Given the description of an element on the screen output the (x, y) to click on. 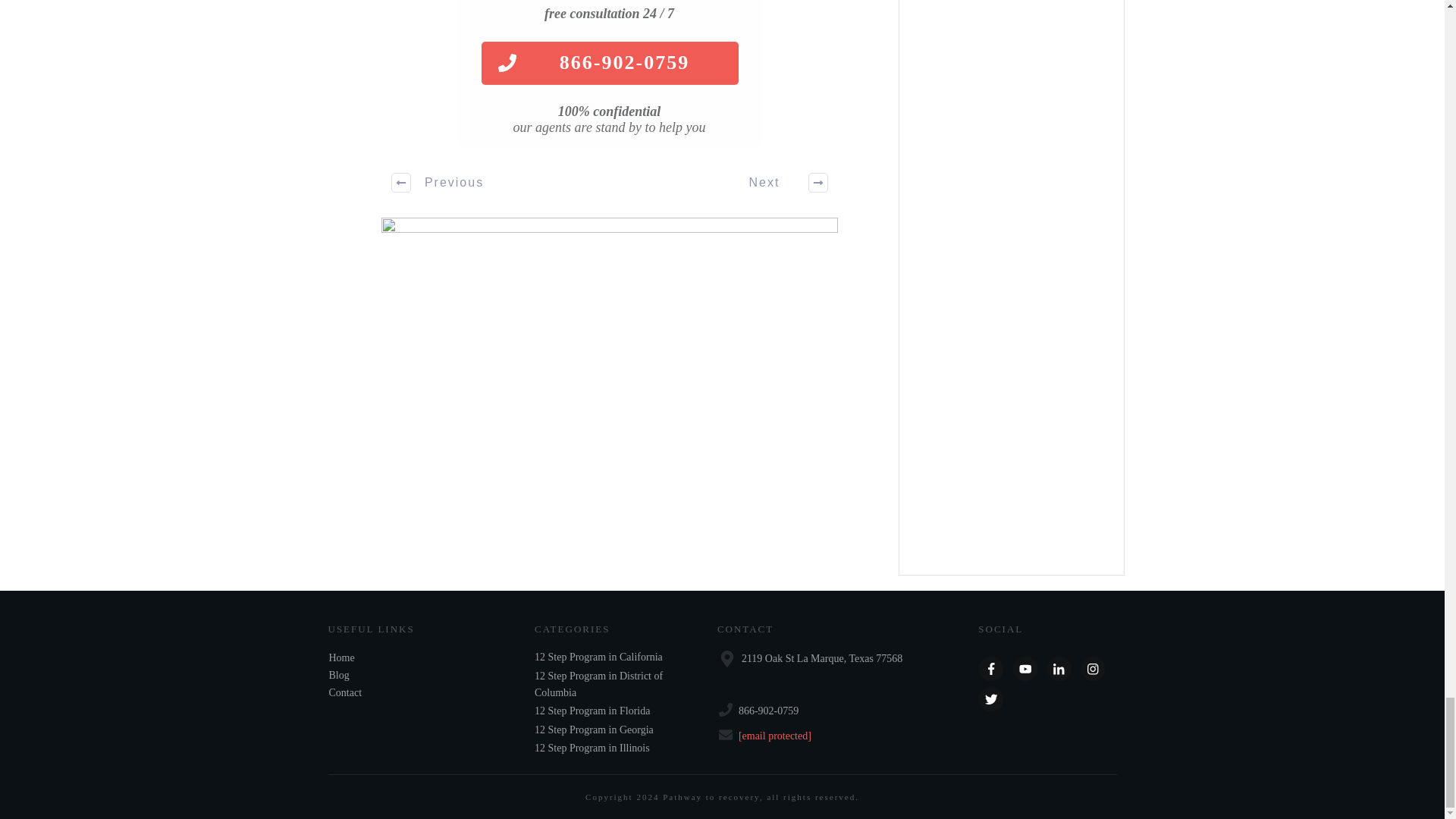
Home (342, 657)
Previous (438, 182)
Next (780, 182)
Blog (339, 674)
866-902-0759 (609, 63)
